Given the description of an element on the screen output the (x, y) to click on. 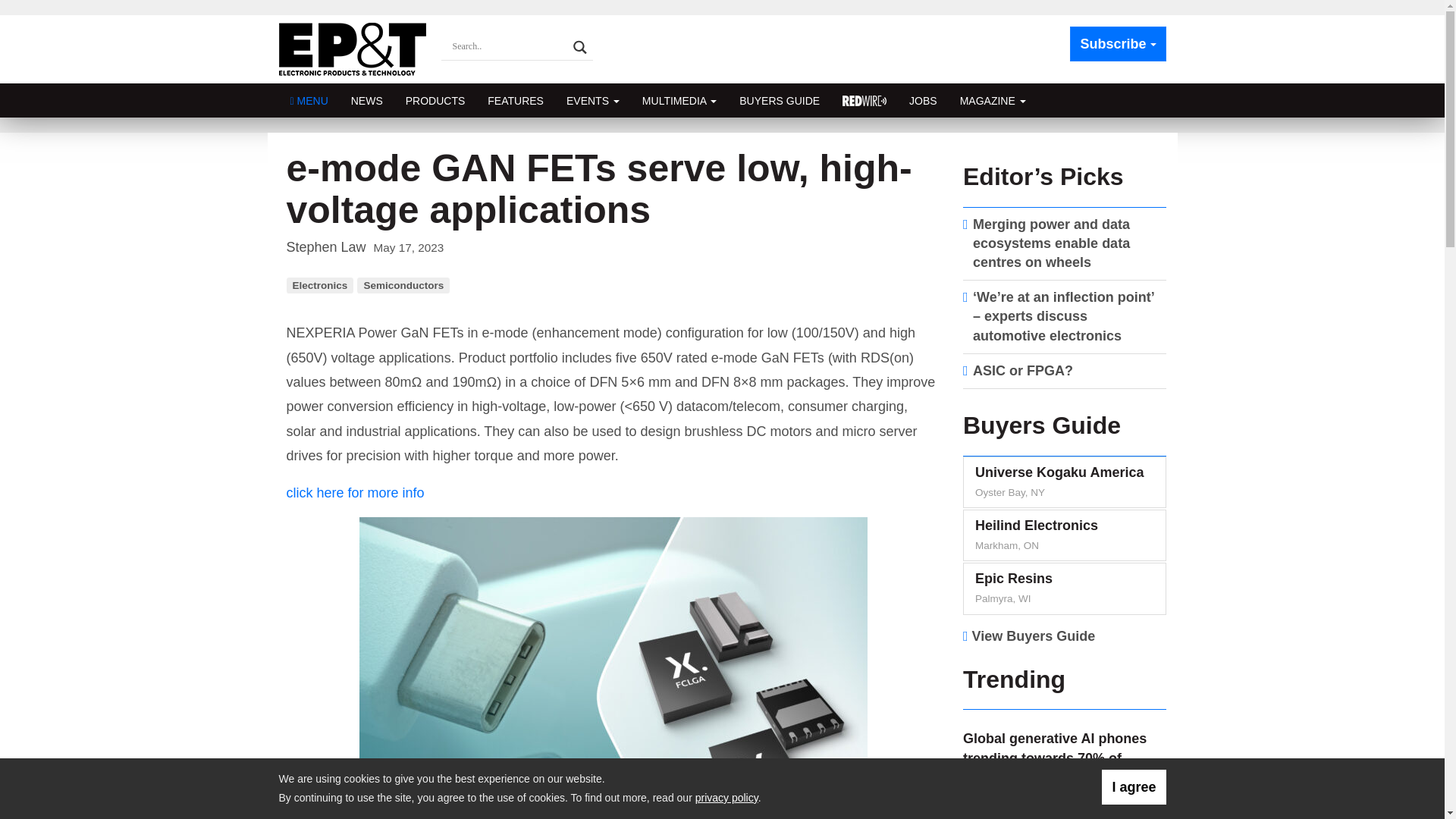
NEWS (366, 100)
EVENTS (592, 100)
MAGAZINE (992, 100)
MENU (309, 100)
MULTIMEDIA (679, 100)
PRODUCTS (435, 100)
Subscribe (1118, 43)
FEATURES (515, 100)
JOBS (923, 100)
BUYERS GUIDE (779, 100)
